Given the description of an element on the screen output the (x, y) to click on. 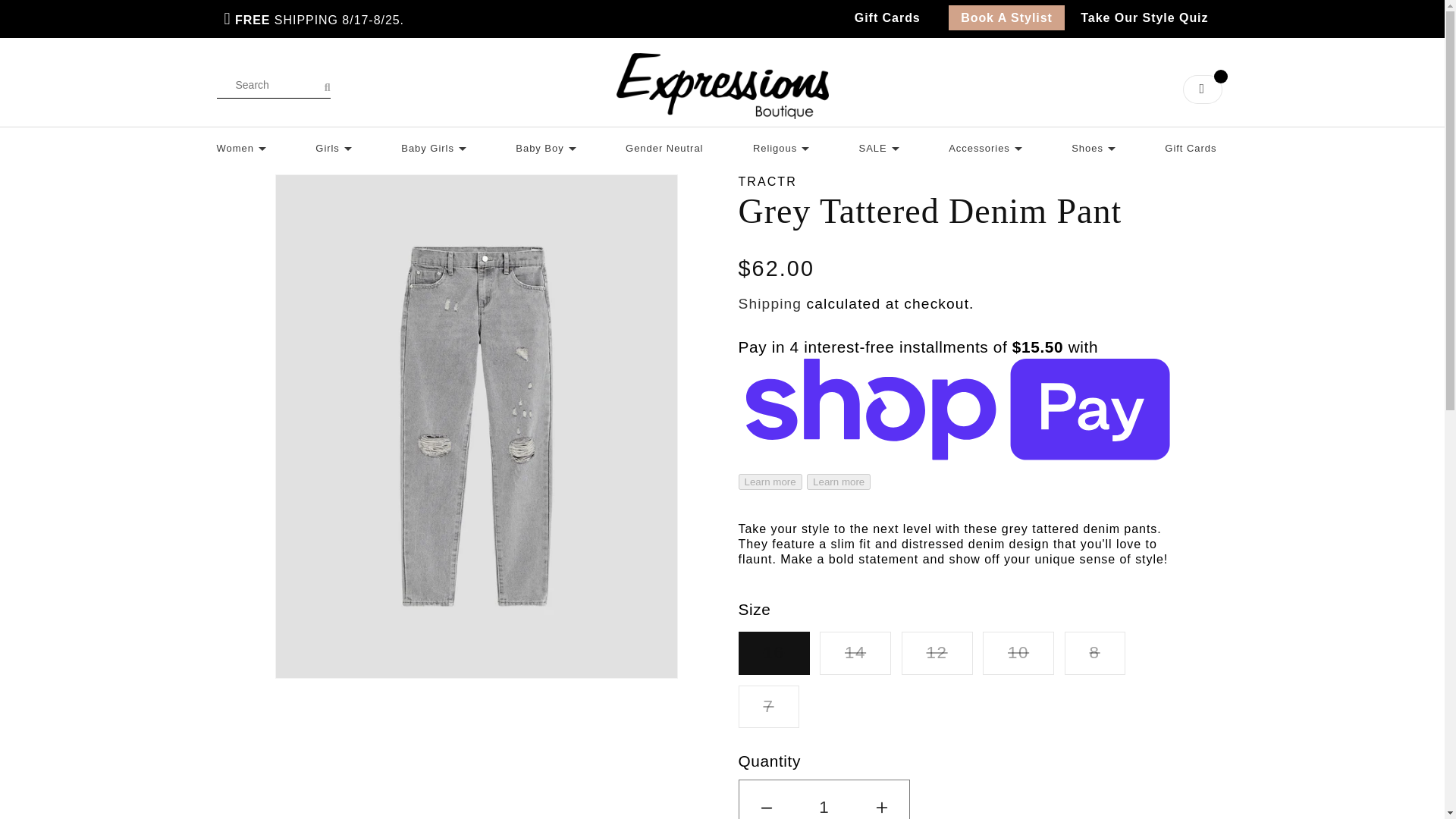
Book A Stylist (1006, 17)
Take Our Style Quiz (1144, 17)
Baby Girls (433, 146)
1 (823, 799)
Girls (333, 146)
Skip to content (73, 27)
Women (241, 146)
